Given the description of an element on the screen output the (x, y) to click on. 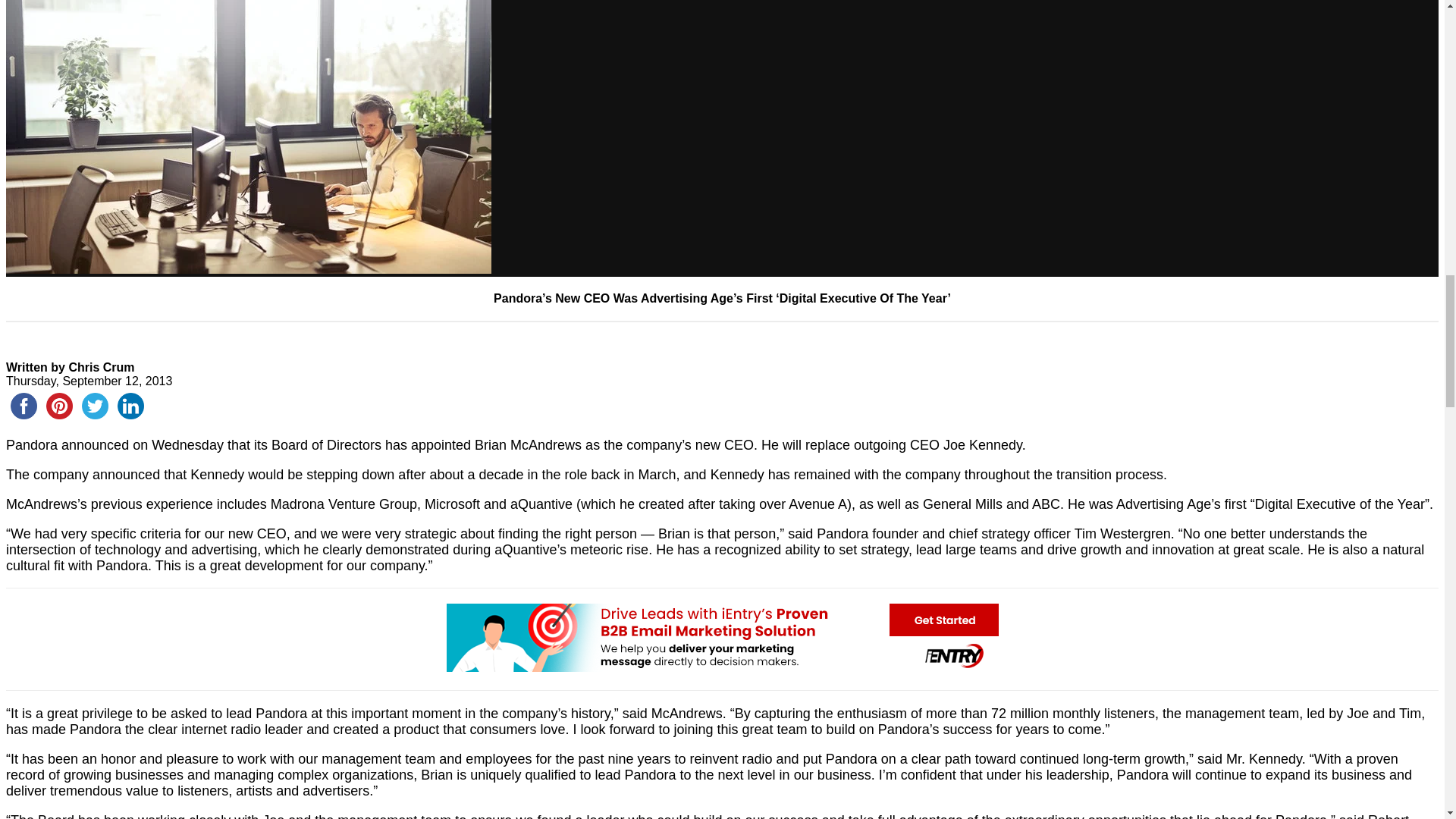
linkedin (130, 406)
pinterest (59, 406)
facebook (23, 406)
twitter (95, 406)
